Given the description of an element on the screen output the (x, y) to click on. 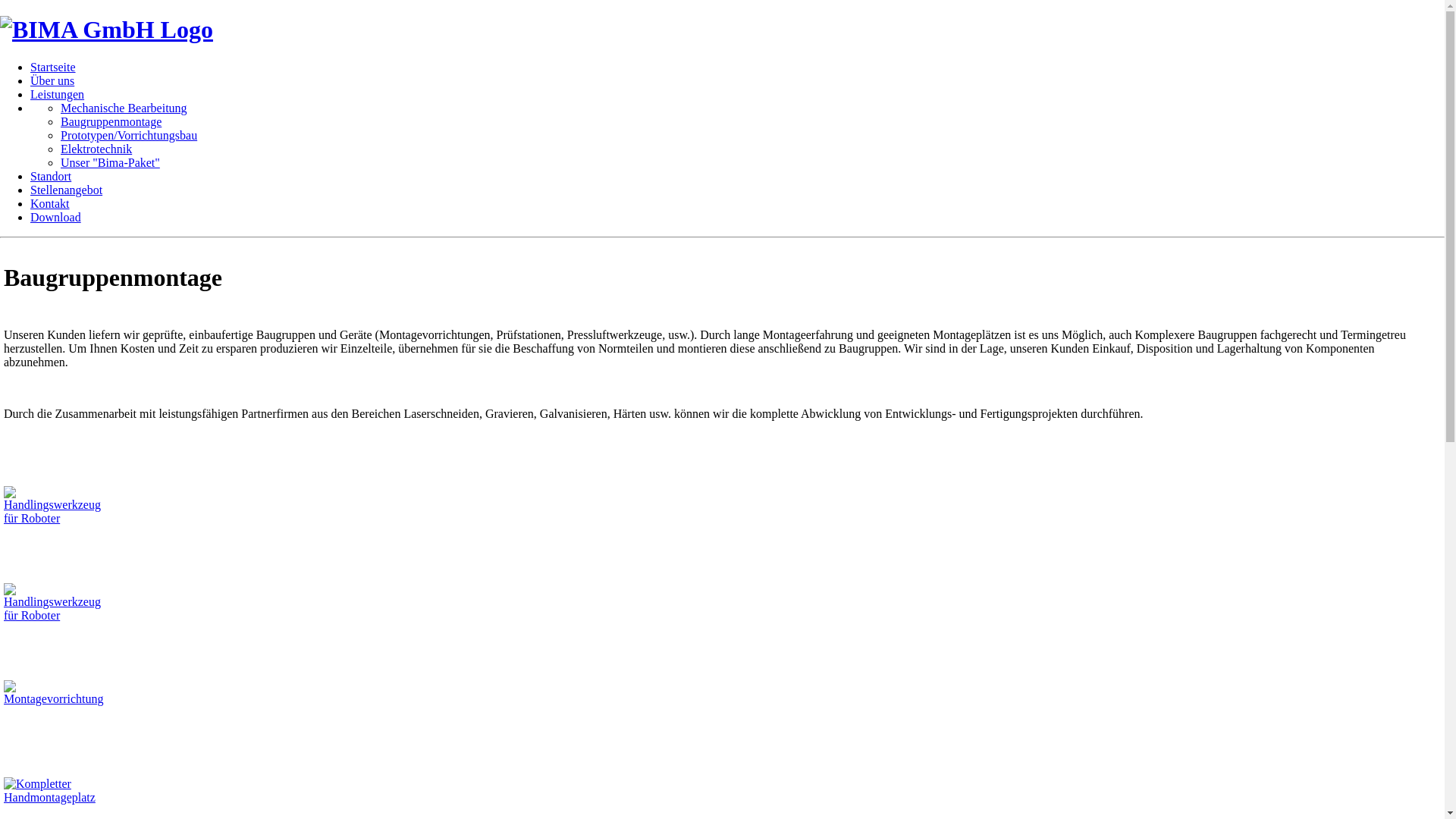
Standort Element type: text (50, 175)
Prototypen/Vorrichtungsbau Element type: text (128, 134)
Baugruppenmontage Element type: text (110, 121)
Mechanische Bearbeitung Element type: text (123, 107)
Kontakt Element type: text (49, 203)
Leistungen Element type: text (57, 93)
Startseite Element type: text (52, 66)
Zur Startseite Element type: hover (106, 29)
Download Element type: text (55, 216)
Elektrotechnik Element type: text (95, 148)
Unser "Bima-Paket" Element type: text (110, 162)
Stellenangebot Element type: text (66, 189)
